Given the description of an element on the screen output the (x, y) to click on. 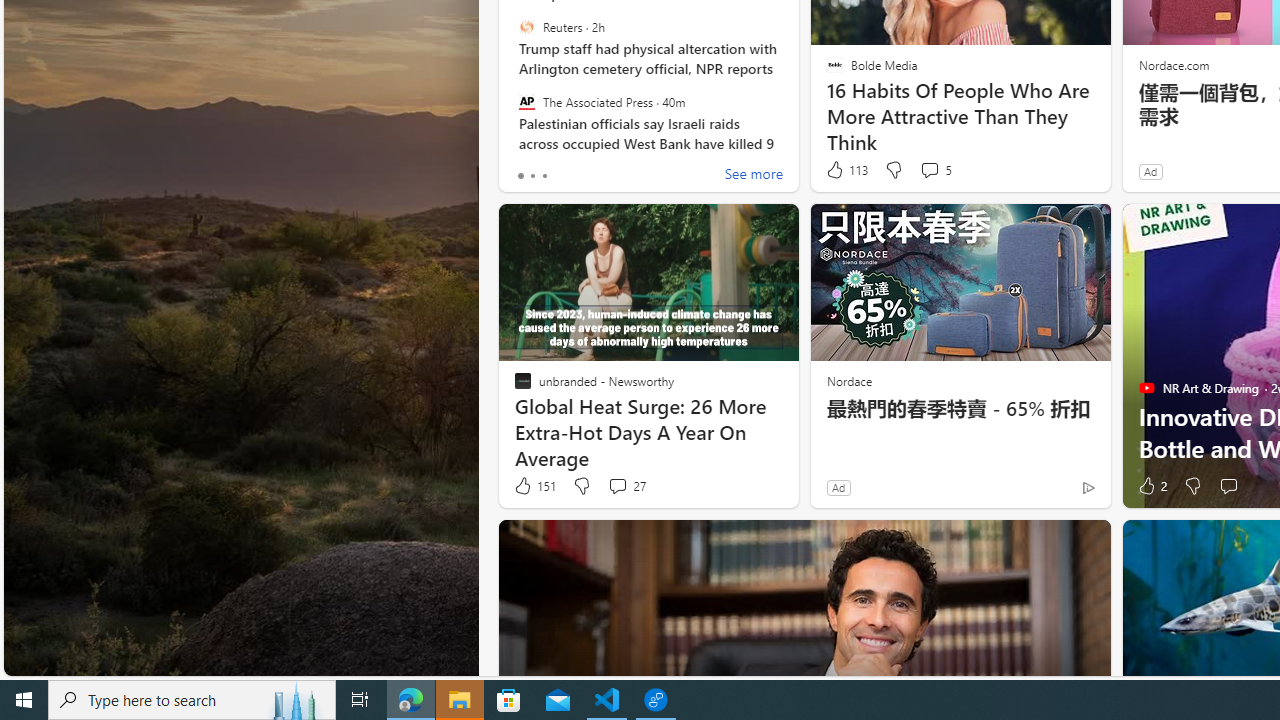
Start the conversation (1227, 485)
tab-0 (520, 175)
tab-1 (532, 175)
2 Like (1151, 485)
Start the conversation (1228, 485)
Reuters (526, 27)
View comments 5 Comment (935, 170)
Nordace.com (1173, 64)
